Given the description of an element on the screen output the (x, y) to click on. 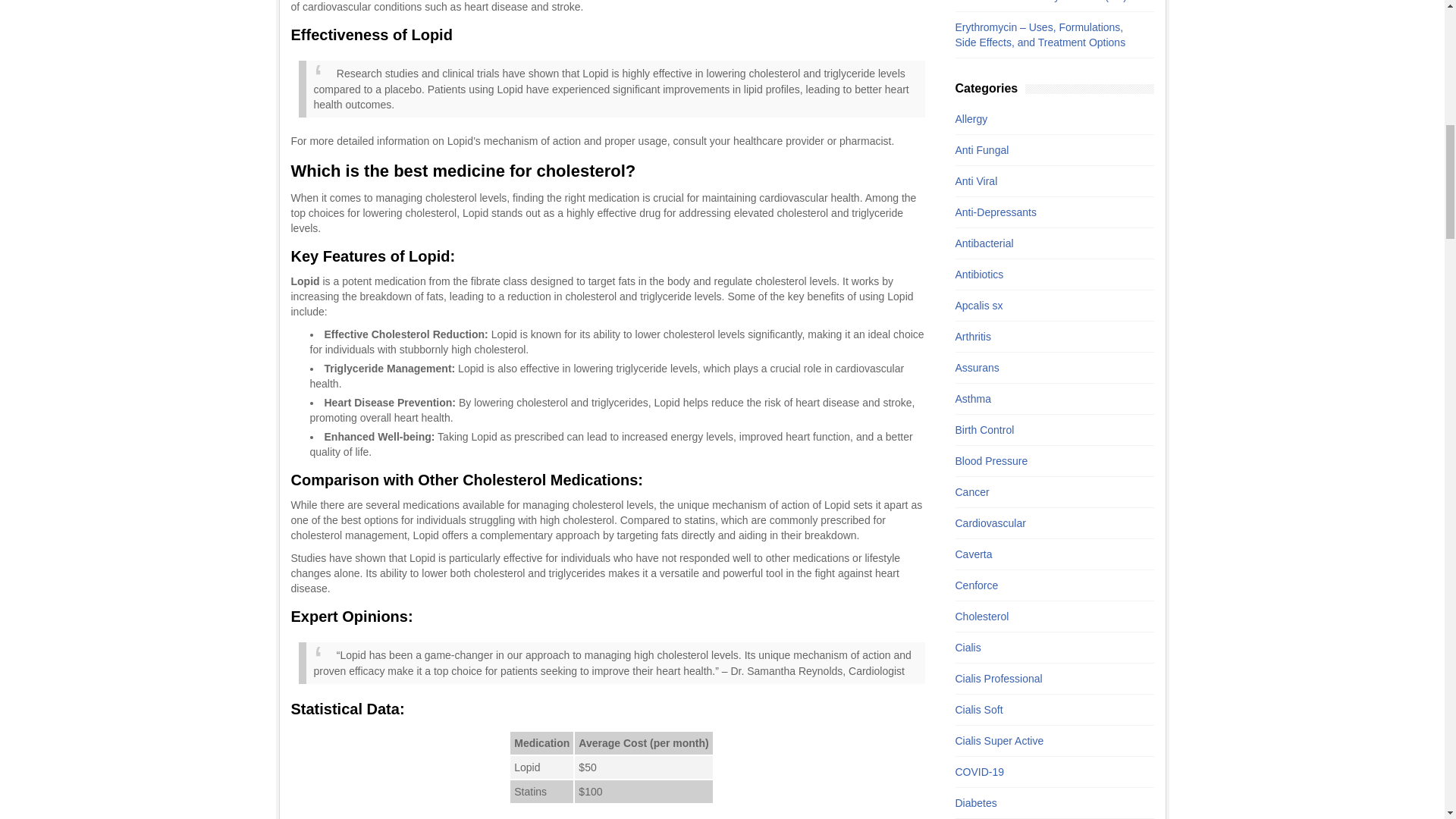
Allergy (1046, 118)
Anti Viral (1046, 181)
Anti Fungal (1046, 150)
